Given the description of an element on the screen output the (x, y) to click on. 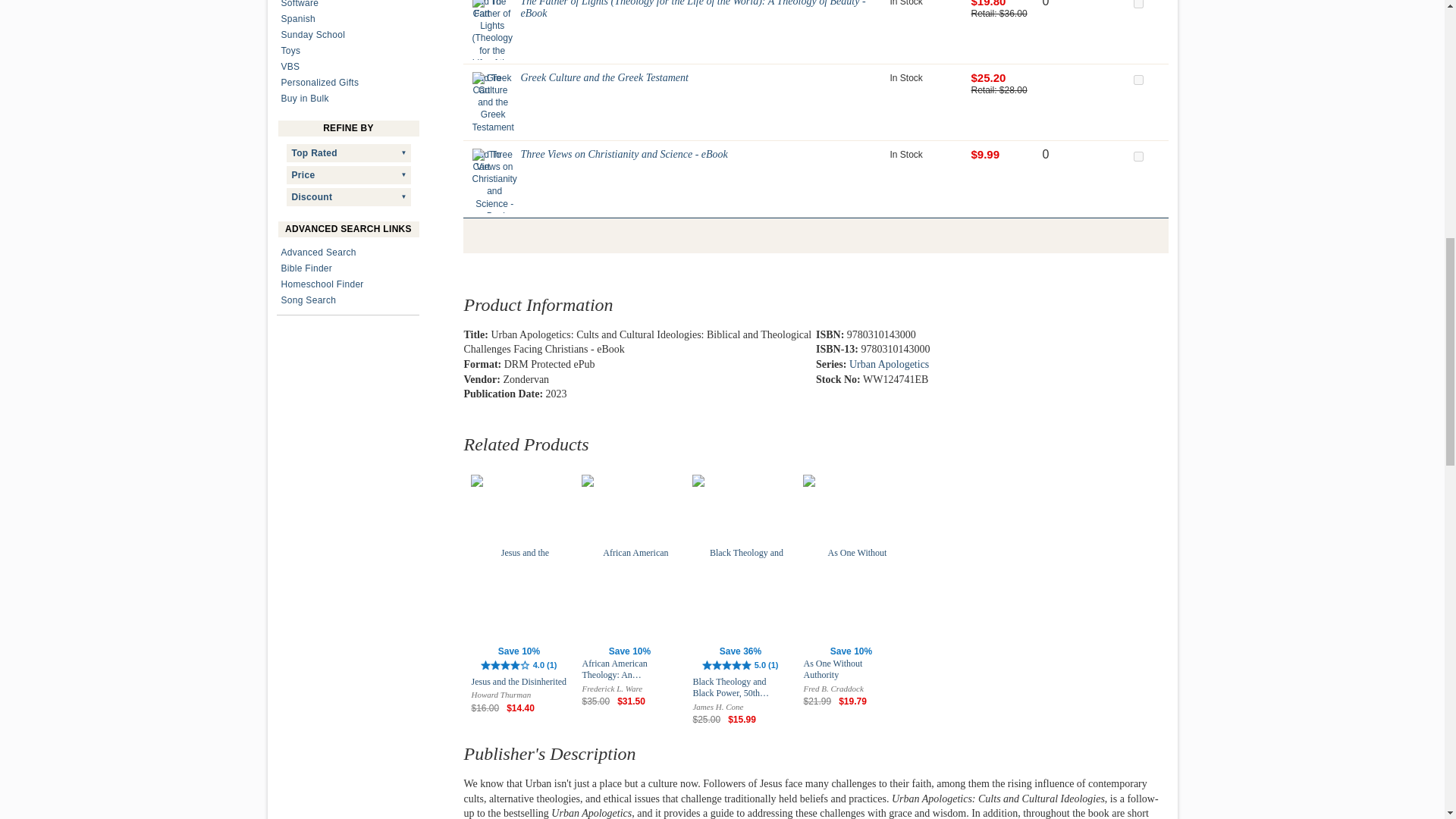
733535 (1137, 80)
113049EB (1137, 4)
105675EB (1137, 156)
